Given the description of an element on the screen output the (x, y) to click on. 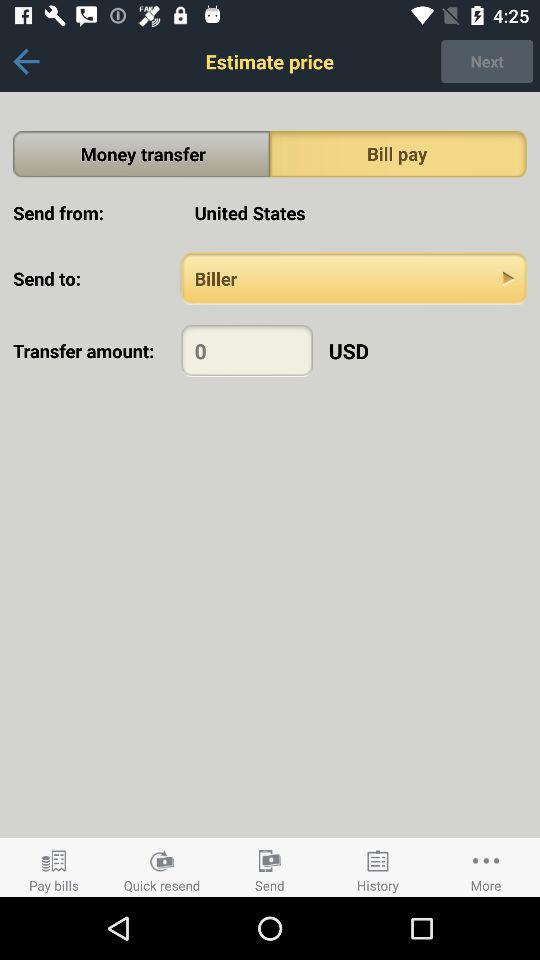
click the united states item (353, 212)
